Given the description of an element on the screen output the (x, y) to click on. 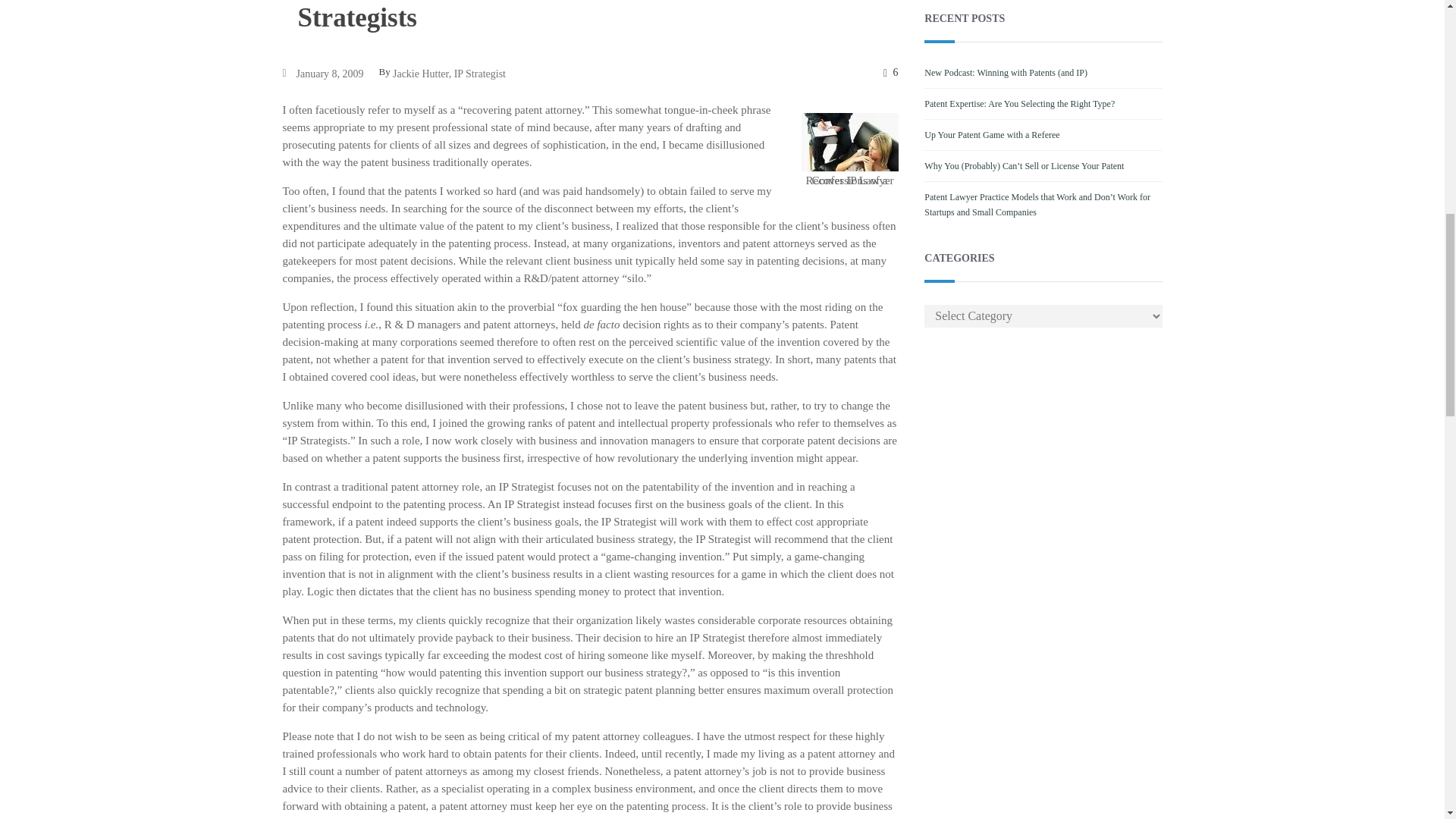
confessions (849, 142)
Up Your Patent Game with a Referee (991, 134)
Jackie Hutter, IP Strategist (449, 73)
January 8, 2009 (328, 73)
Patent Expertise: Are You Selecting the Right Type? (1019, 103)
